Given the description of an element on the screen output the (x, y) to click on. 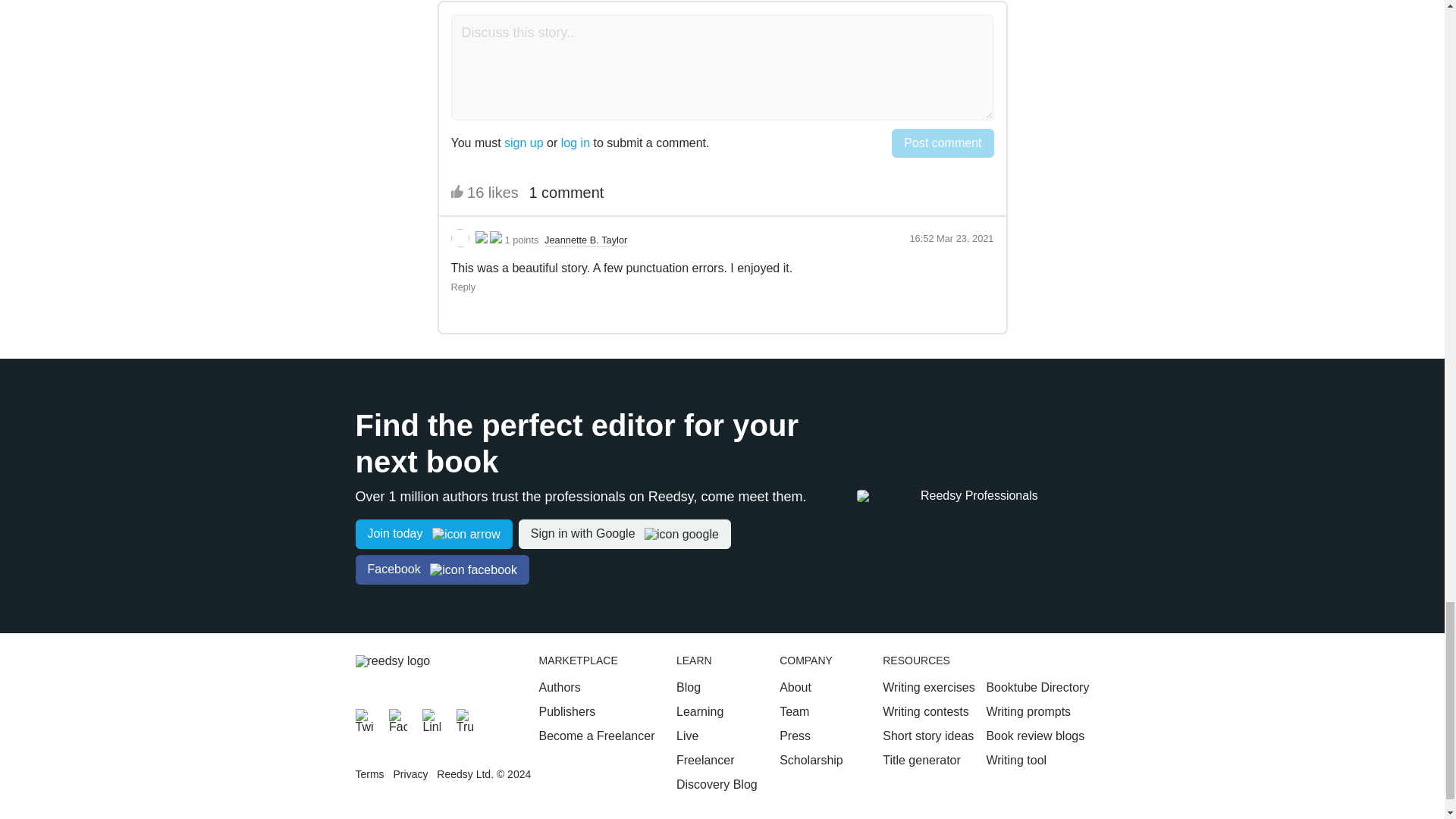
Twitter (363, 718)
Trustpilot (465, 718)
LinkedIn (431, 718)
Sign up (433, 533)
Post comment (941, 143)
Sign in with Facebook (441, 569)
Sign in with Google (624, 533)
Facebook (397, 718)
